Given the description of an element on the screen output the (x, y) to click on. 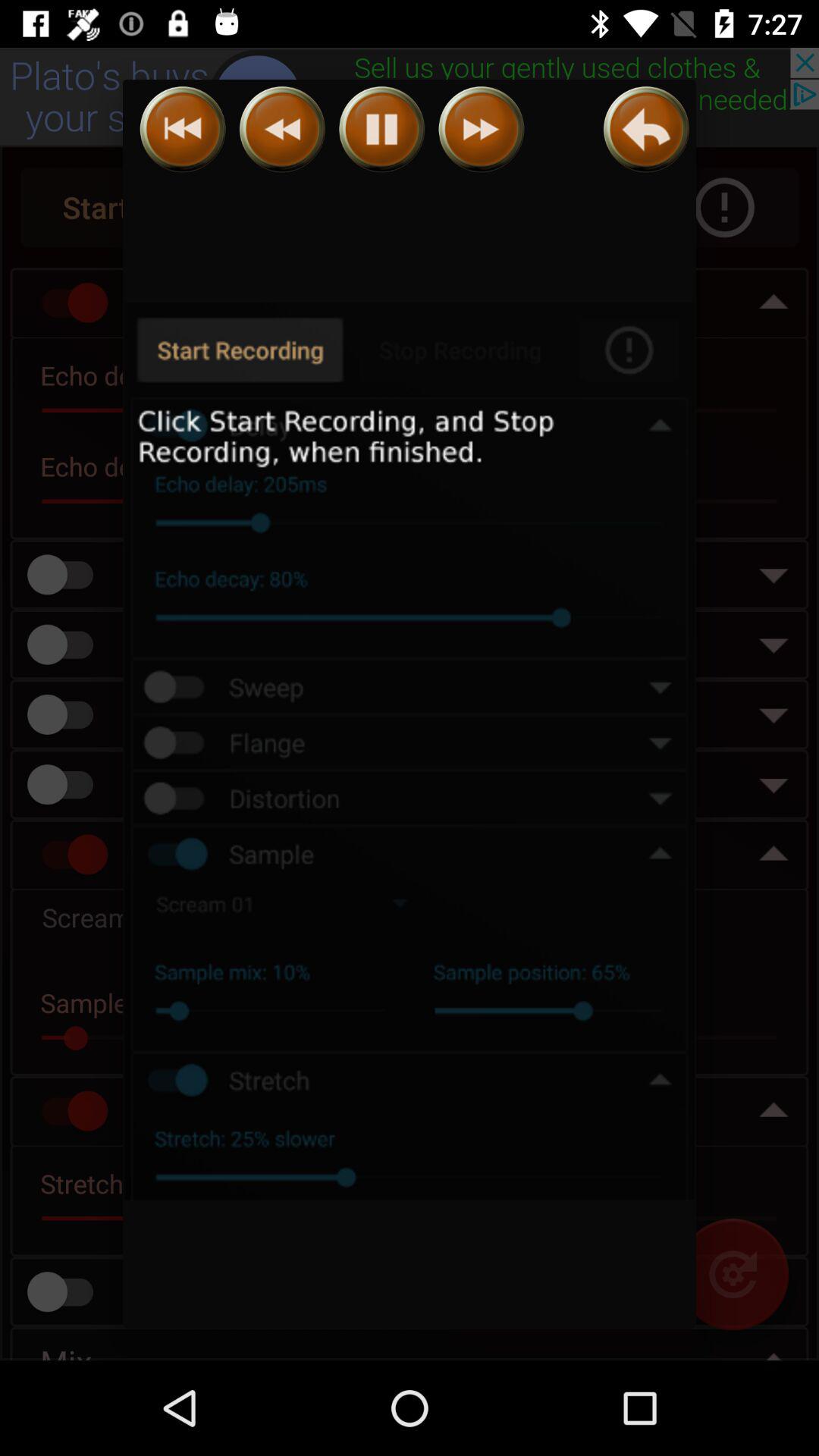
select the icon at the top right corner (646, 129)
